Given the description of an element on the screen output the (x, y) to click on. 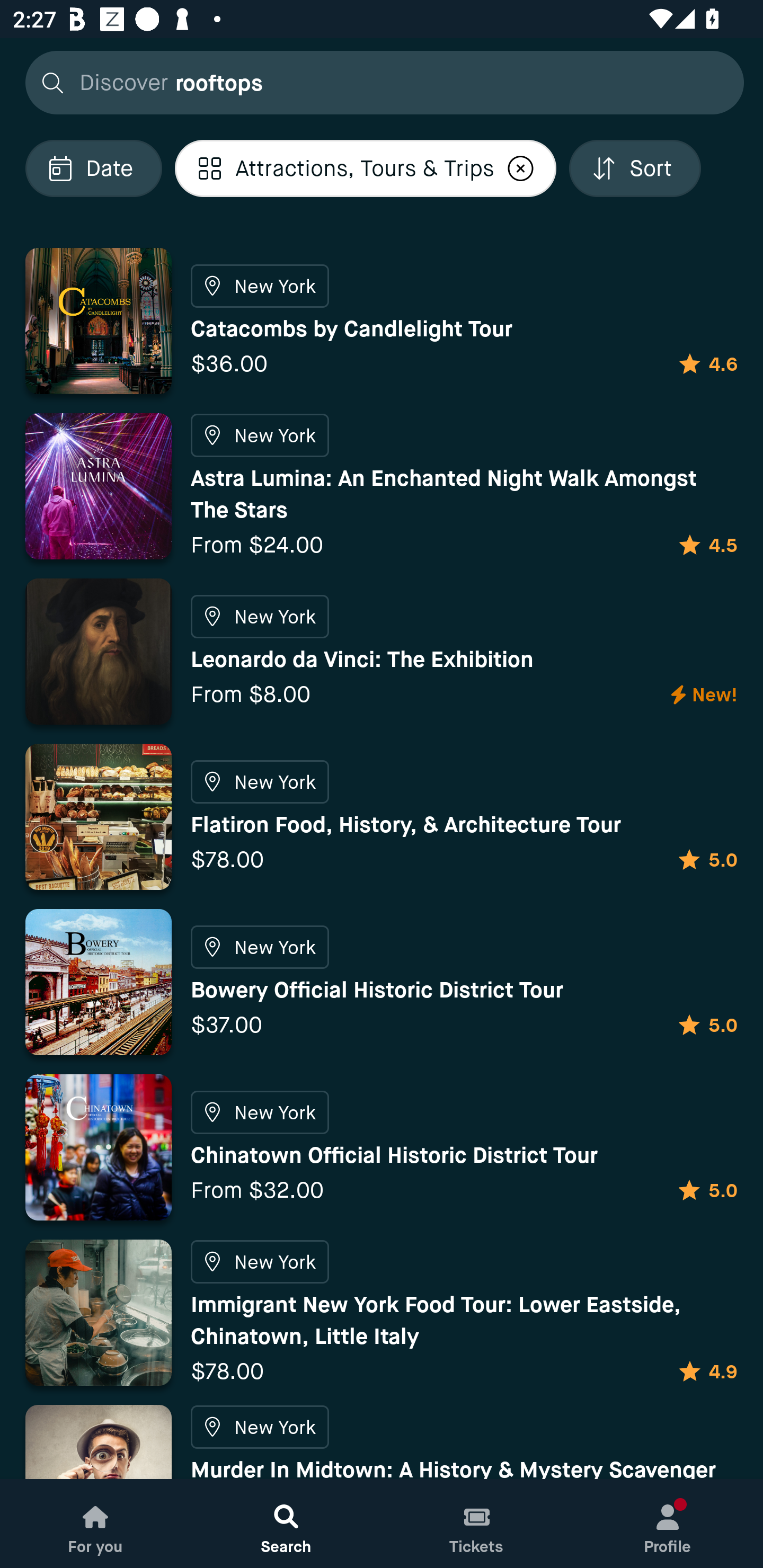
Discover exhibitions rooftops (379, 81)
Localized description Date (93, 168)
Localized description (520, 168)
Localized description Sort (635, 168)
For you (95, 1523)
Tickets (476, 1523)
Profile, New notification Profile (667, 1523)
